Given the description of an element on the screen output the (x, y) to click on. 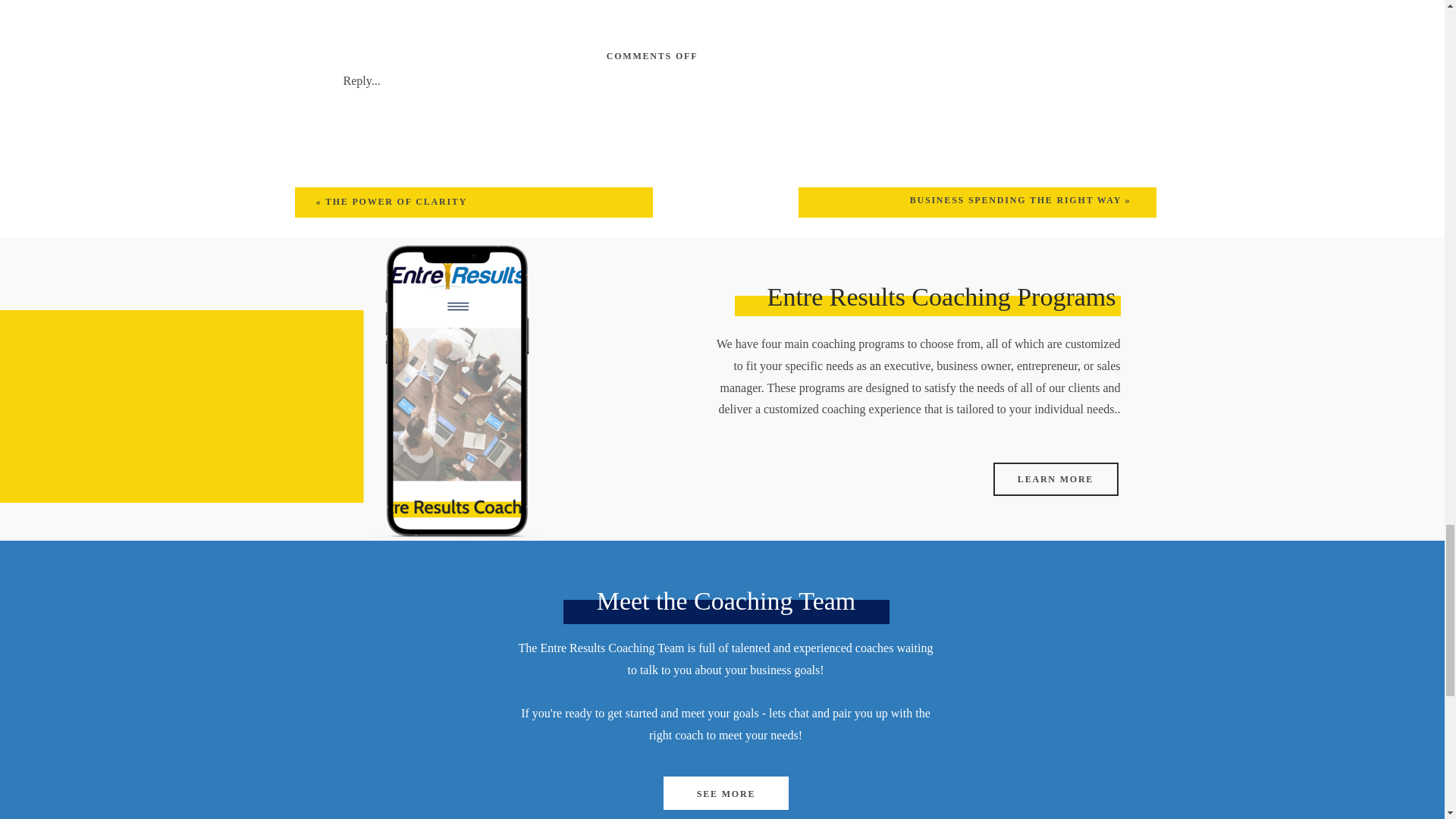
SEE MORE (724, 792)
LEARN MORE (1055, 477)
BUSINESS SPENDING THE RIGHT WAY (1015, 199)
THE POWER OF CLARITY (395, 201)
